Given the description of an element on the screen output the (x, y) to click on. 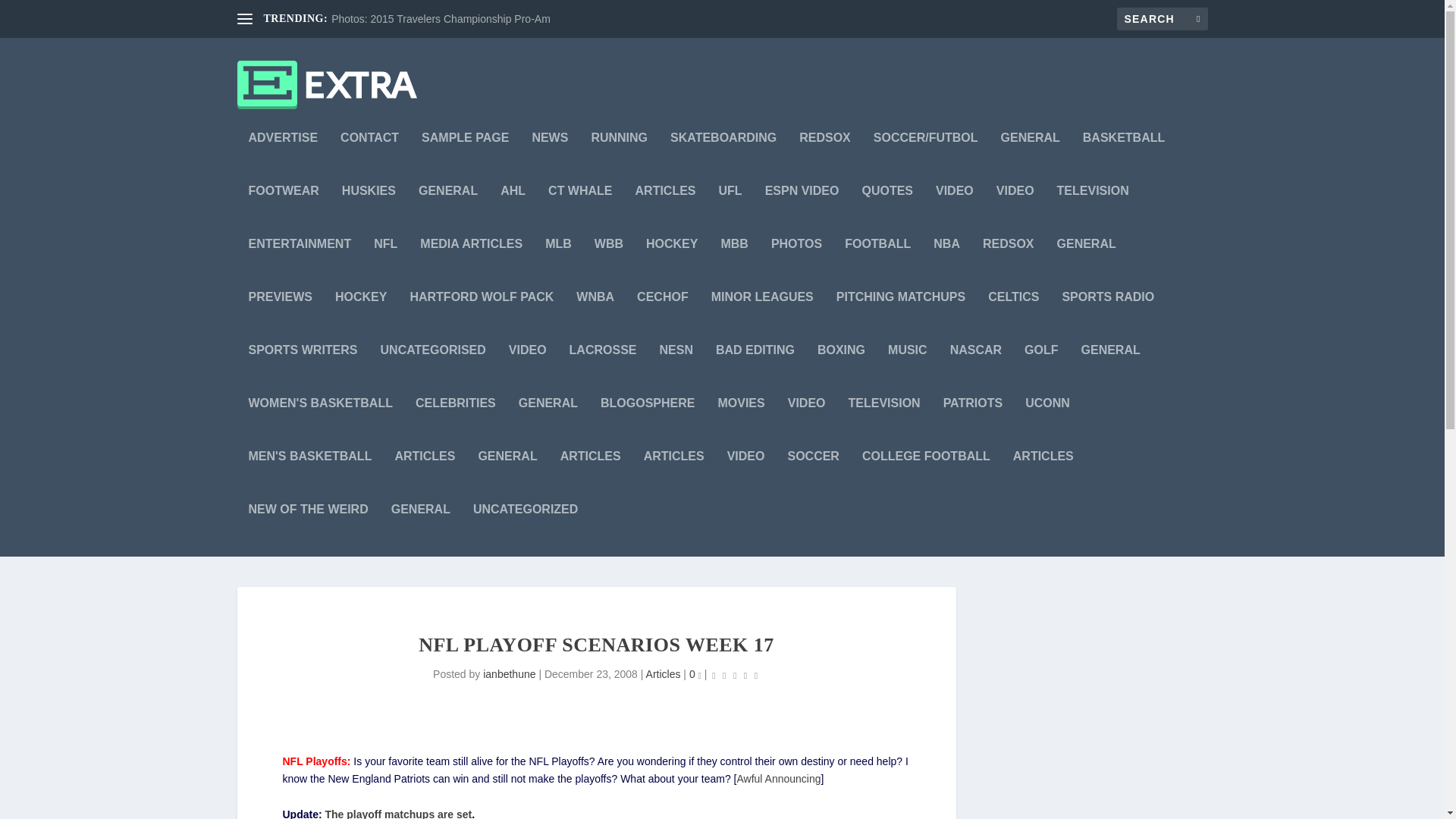
TELEVISION (1093, 211)
BASKETBALL (1123, 158)
CT WHALE (579, 211)
Posts by ianbethune (509, 674)
FOOTWEAR (283, 211)
Photos: 2015 Travelers Championship Pro-Am (440, 19)
QUOTES (886, 211)
CONTACT (369, 158)
ESPN VIDEO (802, 211)
Search for: (1161, 18)
